Given the description of an element on the screen output the (x, y) to click on. 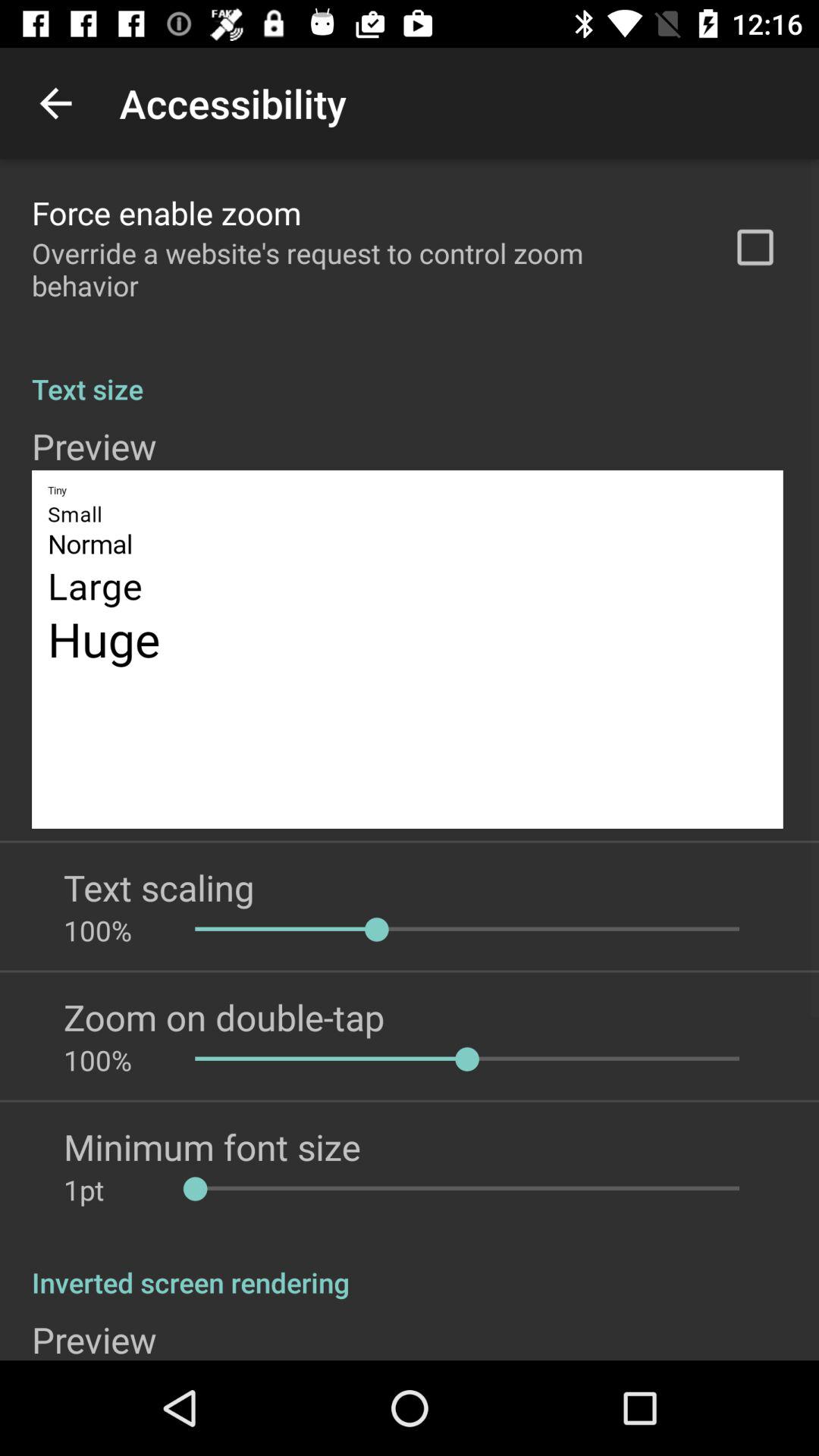
turn off the icon above 100% icon (223, 1017)
